Given the description of an element on the screen output the (x, y) to click on. 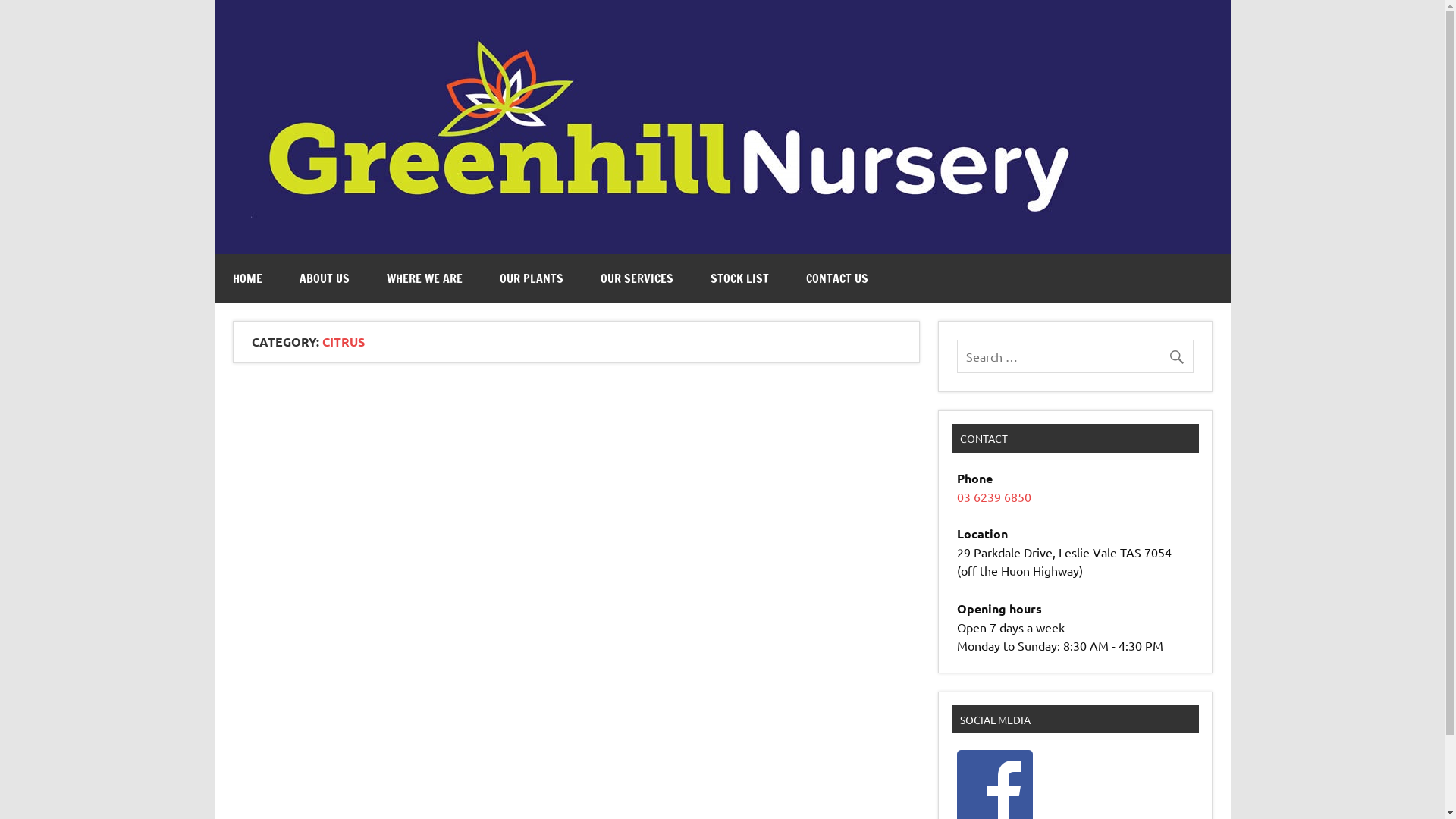
STOCK LIST Element type: text (738, 278)
CONTACT US Element type: text (836, 278)
WHERE WE ARE Element type: text (424, 278)
OUR PLANTS Element type: text (530, 278)
ABOUT US Element type: text (323, 278)
OUR SERVICES Element type: text (636, 278)
03 6239 6850 Element type: text (994, 496)
HOME Element type: text (246, 278)
